Given the description of an element on the screen output the (x, y) to click on. 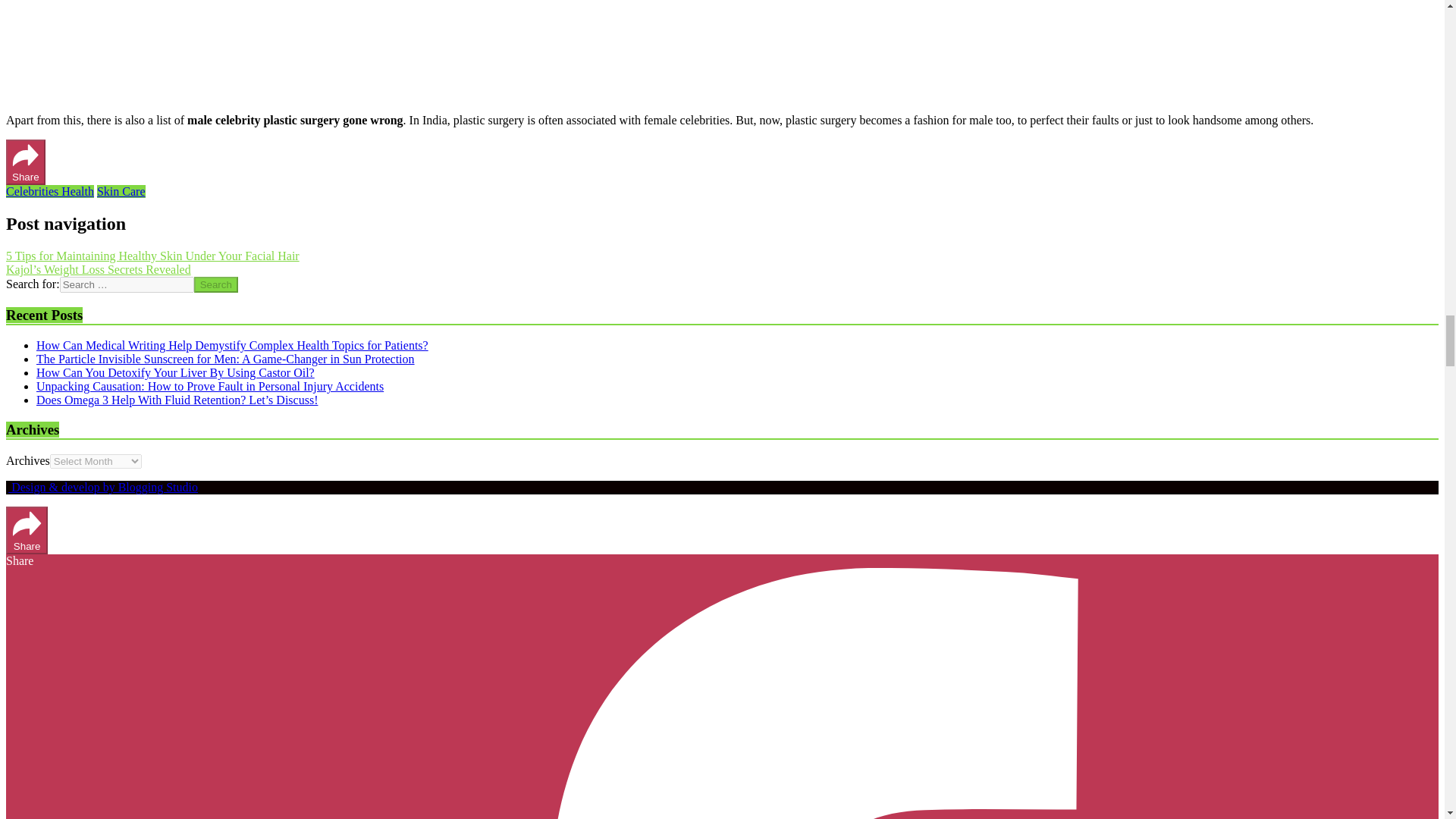
Bollywood Male Actors Plastic Surgery Before And After 10 (220, 49)
Search (215, 284)
Search (215, 284)
